Given the description of an element on the screen output the (x, y) to click on. 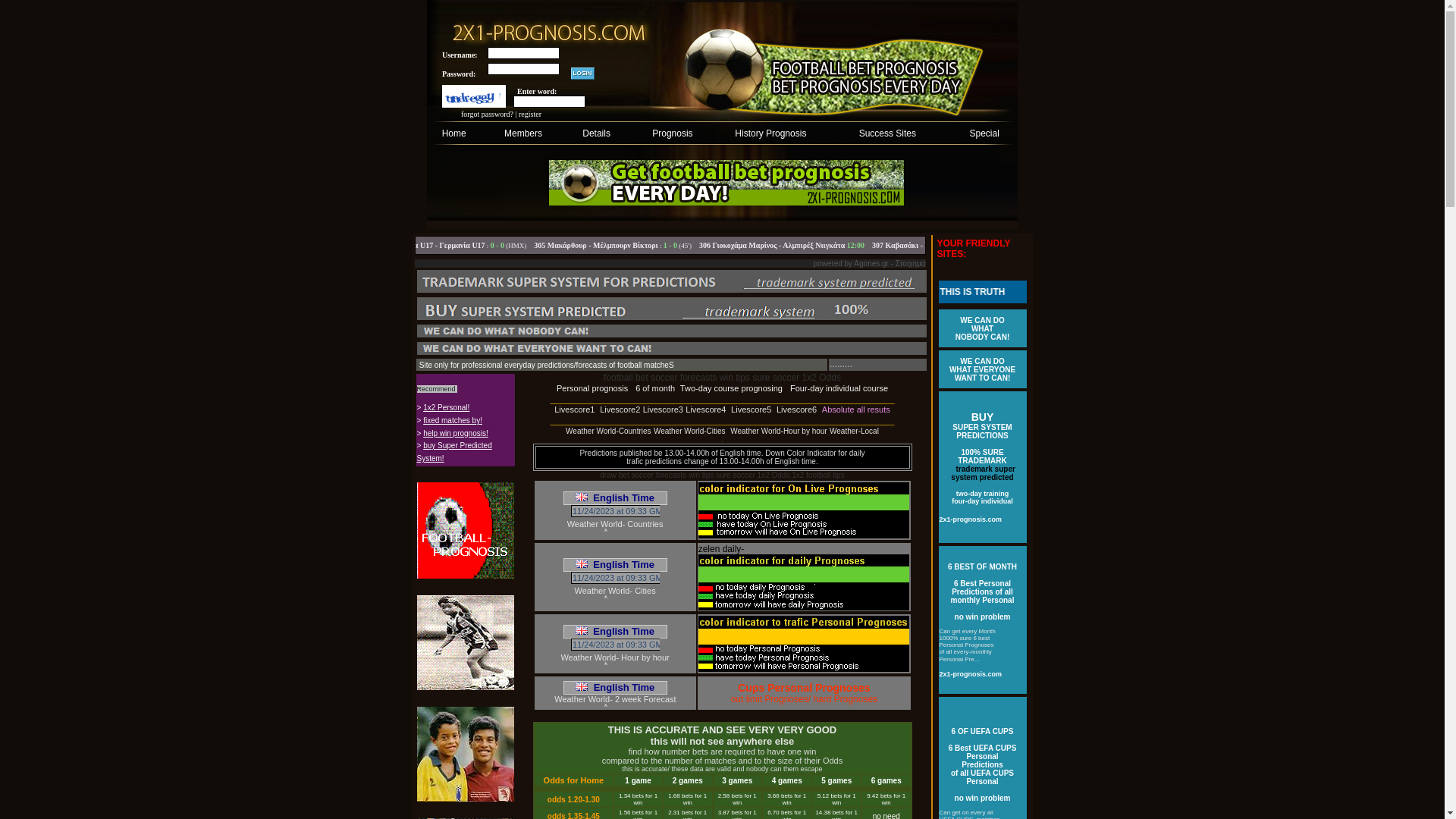
two-day training Element type: text (982, 493)
  English Time Element type: text (614, 563)
Prognosis Element type: text (672, 132)
help win prognosis! Element type: text (455, 432)
Weather World- Cities Element type: text (614, 589)
Agones.gr Element type: text (870, 263)
register Element type: text (529, 113)
buy Super Predicted System! Element type: text (454, 451)
Weather World-Countries Element type: text (607, 430)
Special Element type: text (983, 132)
Four-day individual course Element type: text (839, 387)
History Prognosis Element type: text (770, 132)
Weather World- Countries Element type: text (615, 522)
Two-day course prognosing Element type: text (731, 387)
Weather World-Cities Element type: text (689, 430)
fixed matches by! Element type: text (452, 419)
Weather-Local Element type: text (853, 430)
Weather World- Hour by hour Element type: text (614, 656)
  English Time Element type: text (614, 496)
Livescore2 Element type: text (619, 409)
BUY
SUPER SYSTEM
PREDICTIONS

100% SURE
TRADEMARK Element type: text (981, 439)
Success Sites Element type: text (887, 132)
WE CAN DO
WHAT EVERYONE
WANT TO CAN! Element type: text (982, 368)
Livescore1 Element type: text (574, 409)
1x2 Personal! Element type: text (446, 406)
Livescore4 Element type: text (705, 409)
Details Element type: text (596, 132)
Absolute all resuts Element type: text (856, 409)
Personal prognosis Element type: text (591, 387)
Weather World-Hour by hour Element type: text (778, 430)
......... Element type: text (840, 381)
Livescore6 Element type: text (796, 409)
6 of month Element type: text (654, 387)
WE CAN DO
WHAT
NOBODY CAN! Element type: text (982, 327)
four-day individual Element type: text (982, 500)
Livescore5 Element type: text (751, 409)
  English Time Element type: text (614, 687)
  English Time Element type: text (614, 630)
......... Element type: text (840, 370)
Livescore3 Element type: text (663, 409)
forgot password? Element type: text (487, 113)
Home Element type: text (454, 132)
Weather World- 2 week Forecast Element type: text (614, 698)
Members Element type: text (523, 132)
